Given the description of an element on the screen output the (x, y) to click on. 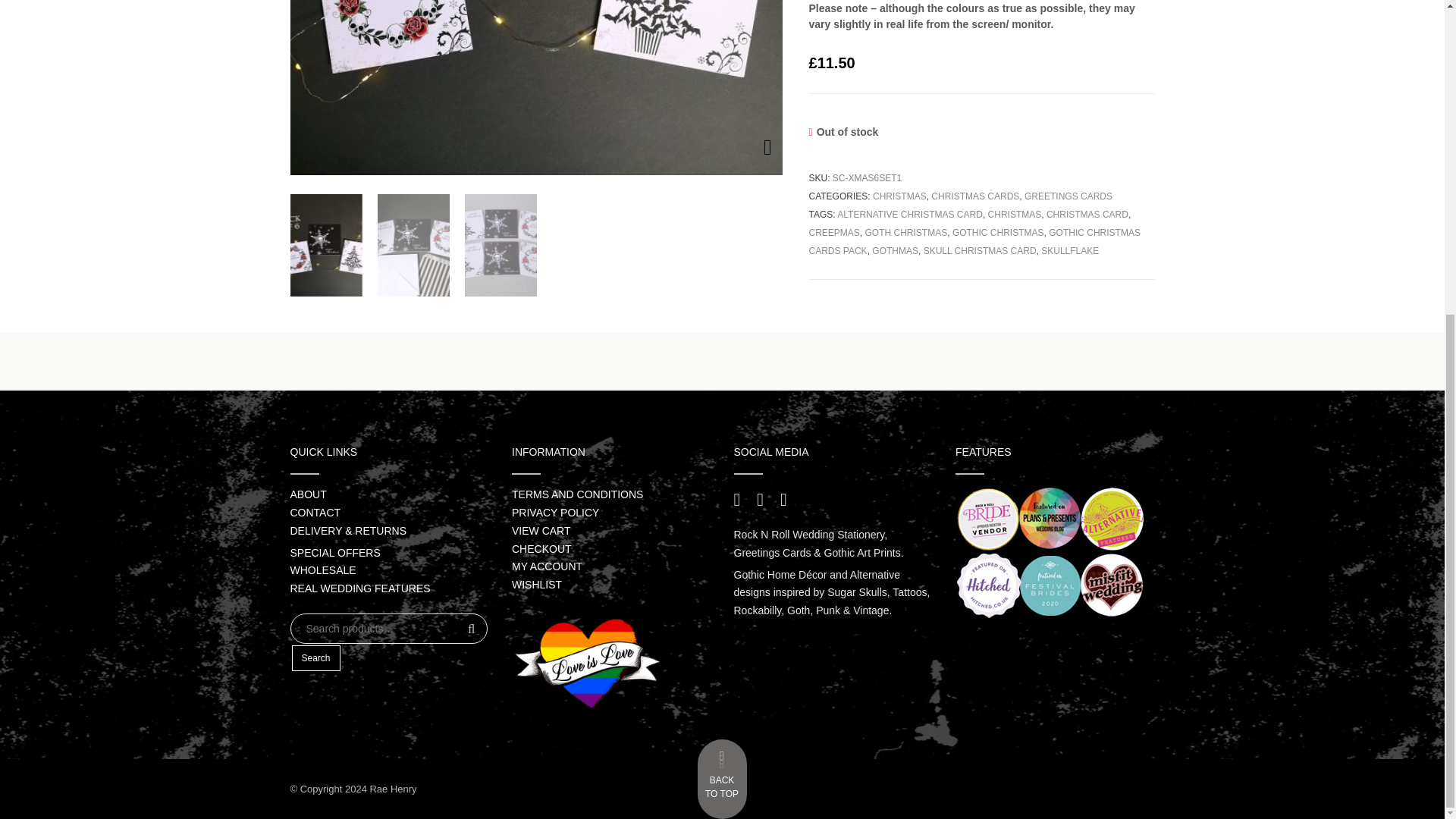
christmas cards pic wreath set a (536, 87)
